Given the description of an element on the screen output the (x, y) to click on. 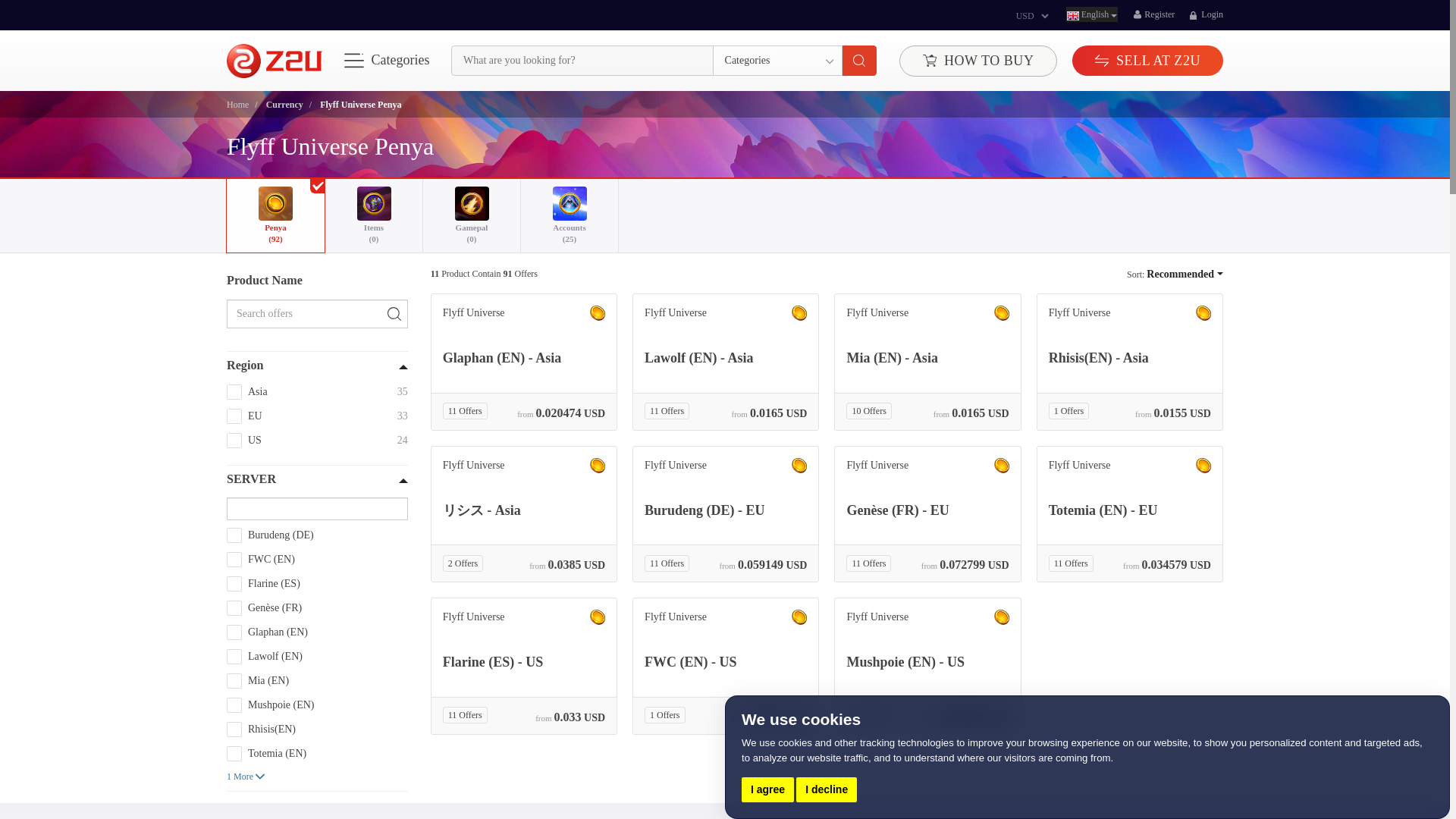
English (1091, 14)
Register (1153, 14)
Login (1206, 14)
I agree (767, 789)
I decline (826, 789)
